Given the description of an element on the screen output the (x, y) to click on. 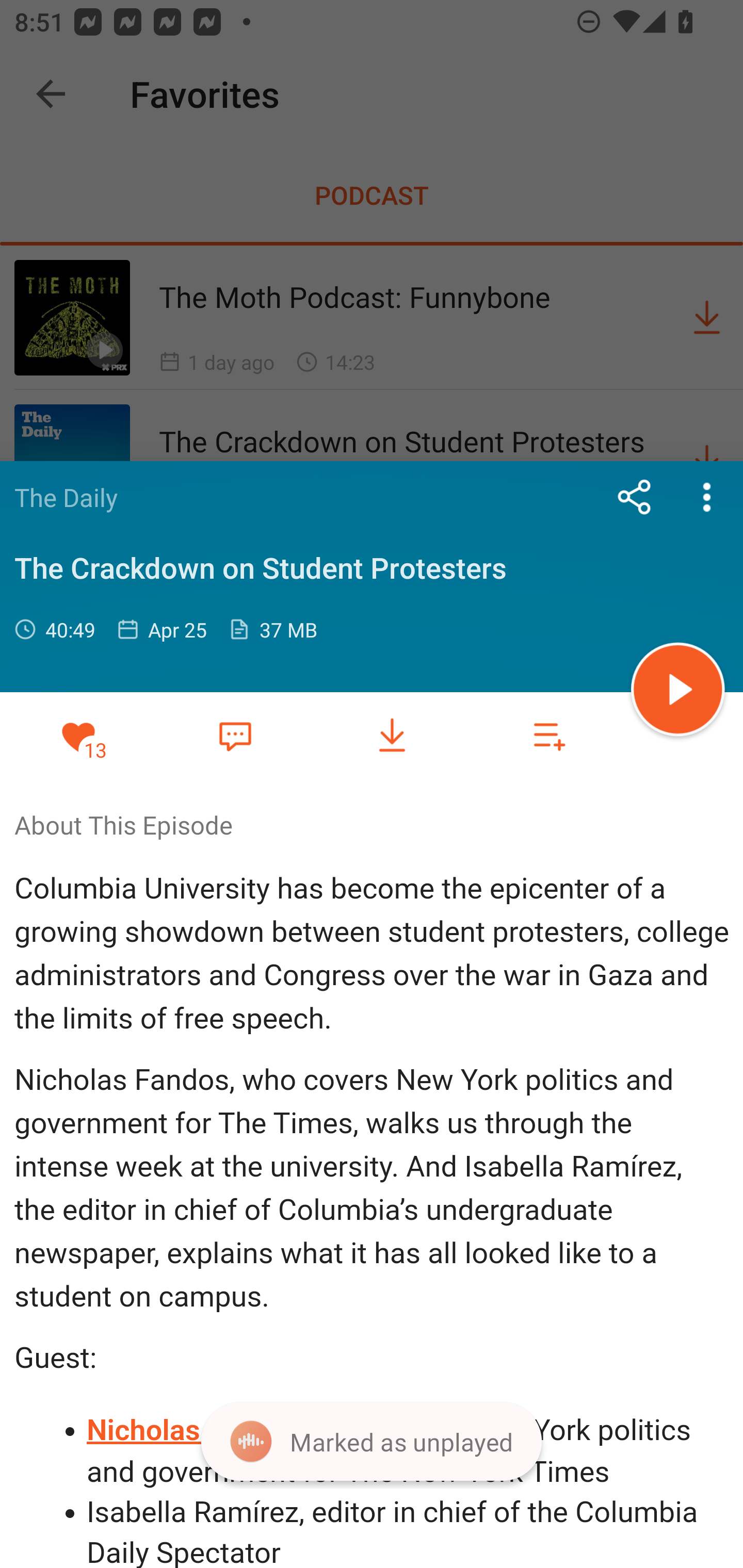
Share (634, 496)
more options (706, 496)
Play (677, 692)
Favorite (234, 735)
Remove from Favorites (78, 735)
Download (391, 735)
Add to playlist (548, 735)
Nicholas Fandos (194, 1430)
